Given the description of an element on the screen output the (x, y) to click on. 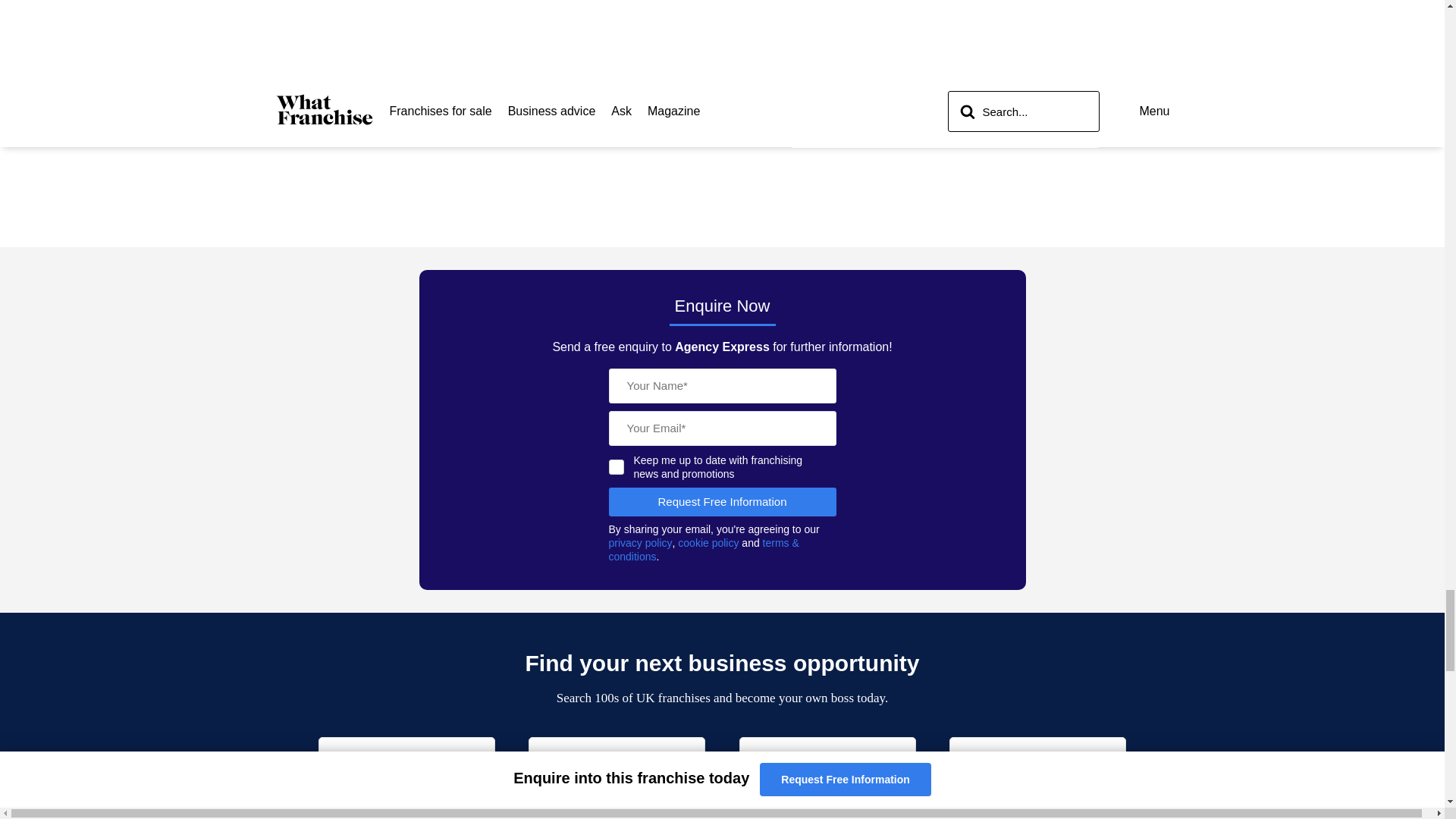
true (615, 467)
Request Free Information (721, 501)
